Given the description of an element on the screen output the (x, y) to click on. 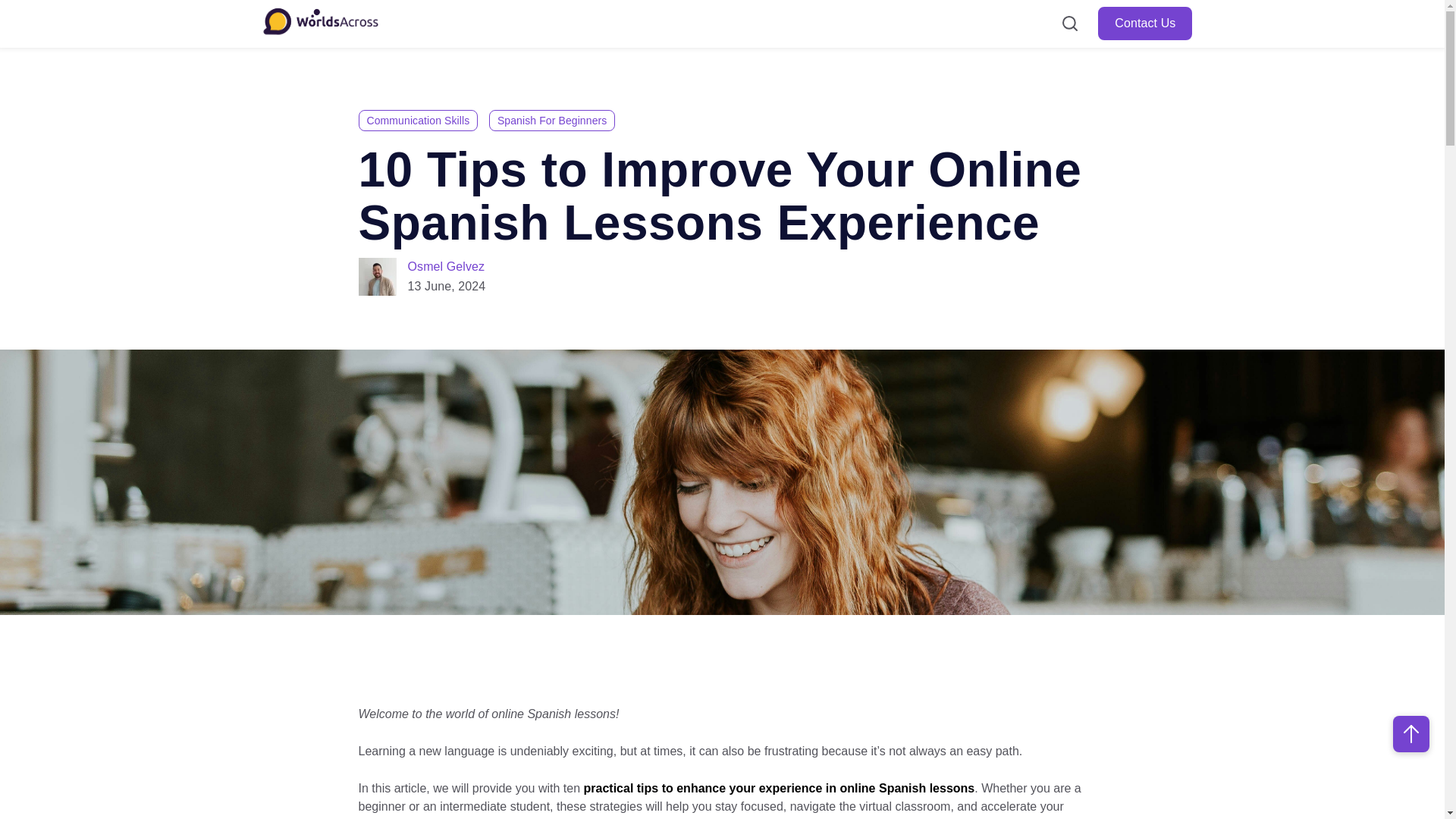
Communication Skills (417, 120)
Osmel Gelvez (445, 266)
Spanish For Beginners (552, 120)
Contact Us (1144, 23)
